Given the description of an element on the screen output the (x, y) to click on. 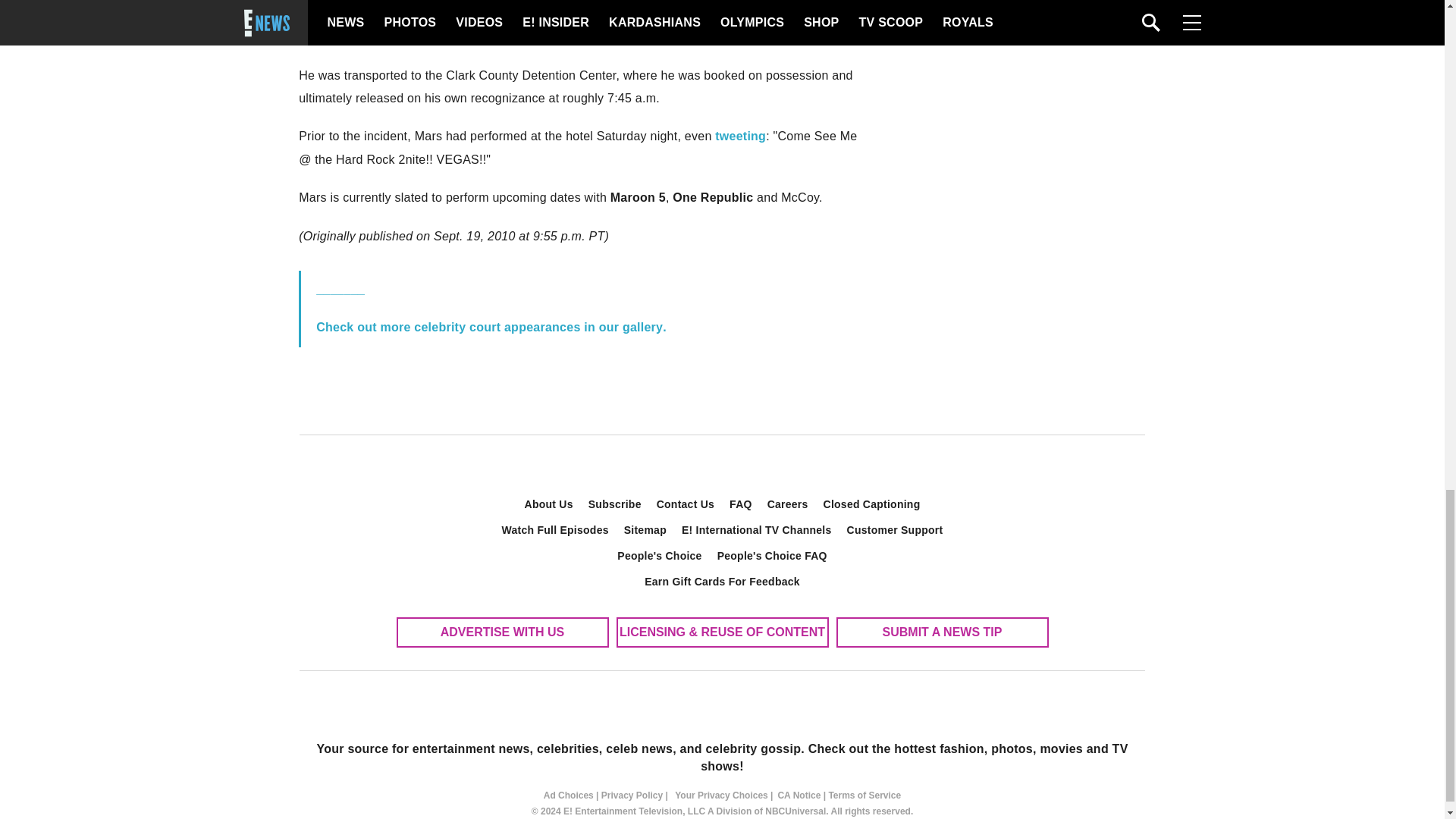
Closed Captioning (871, 503)
our gallery (630, 327)
Subscribe (614, 503)
Watch Full Episodes (555, 529)
About Us (548, 503)
tweeting (739, 135)
Careers (787, 503)
Contact Us (685, 503)
FAQ (741, 503)
